Given the description of an element on the screen output the (x, y) to click on. 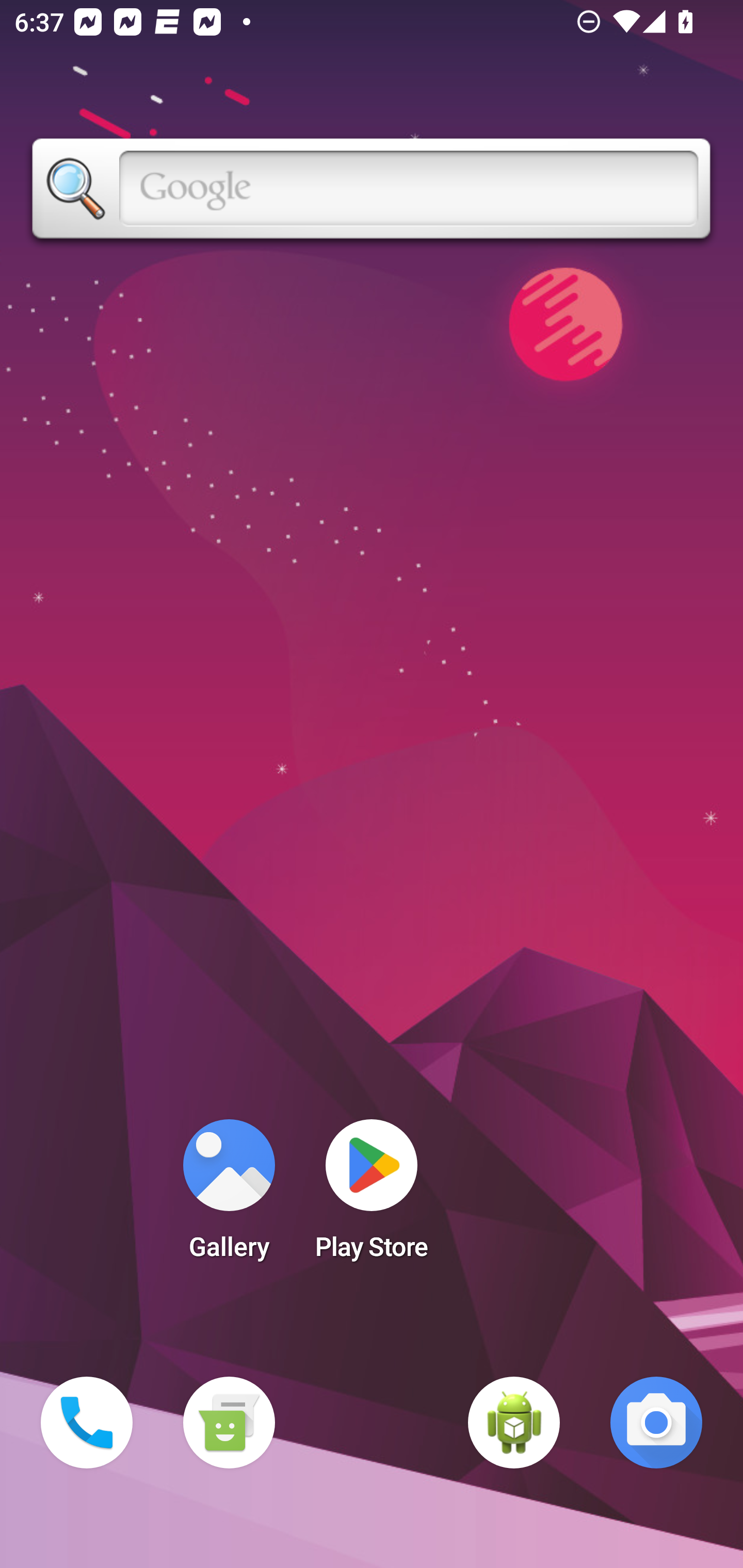
Gallery (228, 1195)
Play Store (371, 1195)
Phone (86, 1422)
Messaging (228, 1422)
WebView Browser Tester (513, 1422)
Camera (656, 1422)
